Given the description of an element on the screen output the (x, y) to click on. 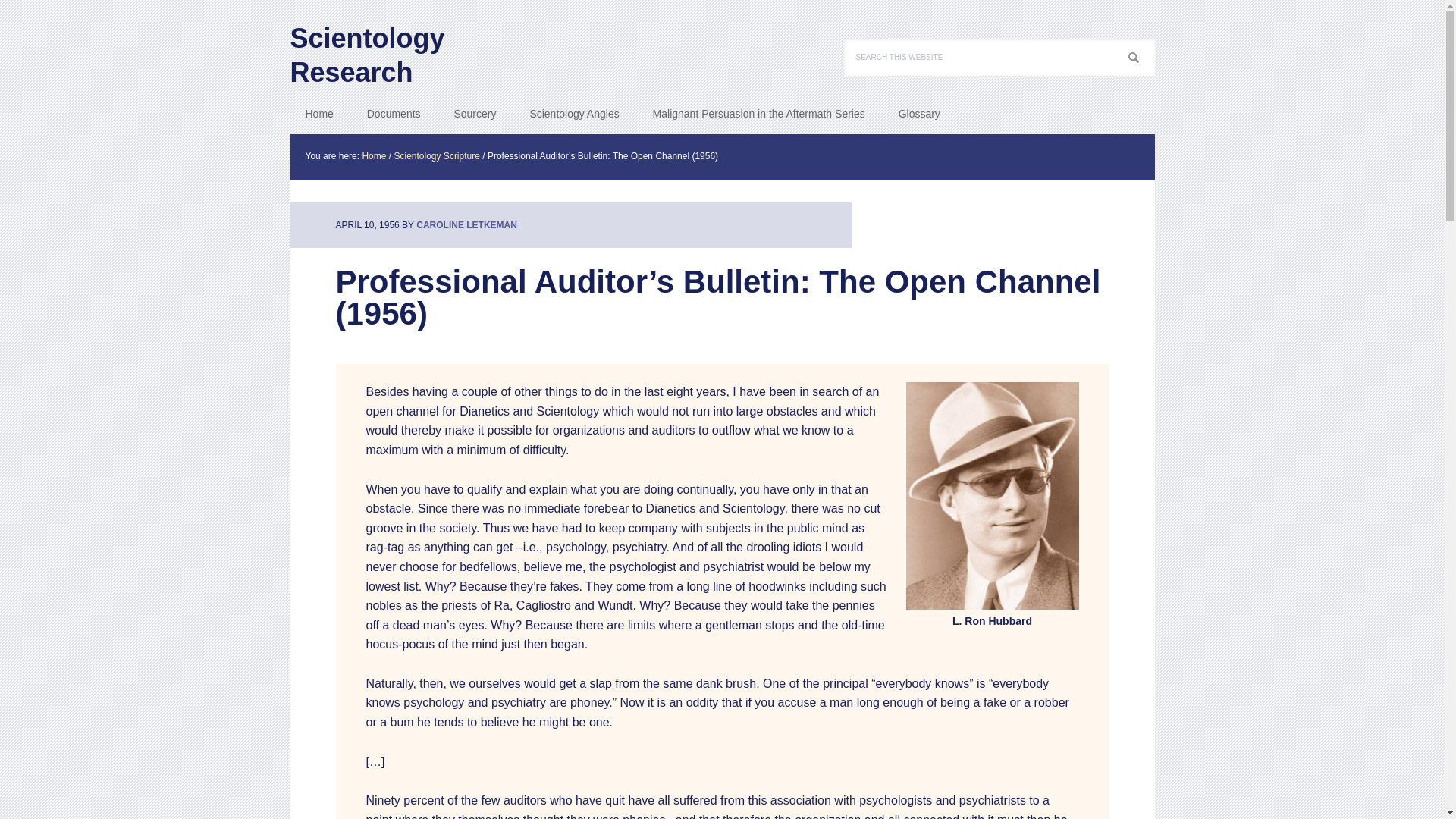
Scientology Scripture (437, 155)
Malignant Persuasion in the Aftermath Series (758, 113)
Home (318, 113)
Scientology Angles (573, 113)
CAROLINE LETKEMAN (466, 225)
Home (373, 155)
Scientology Research (410, 44)
Documents (393, 113)
Glossary (919, 113)
Sourcery (474, 113)
